Given the description of an element on the screen output the (x, y) to click on. 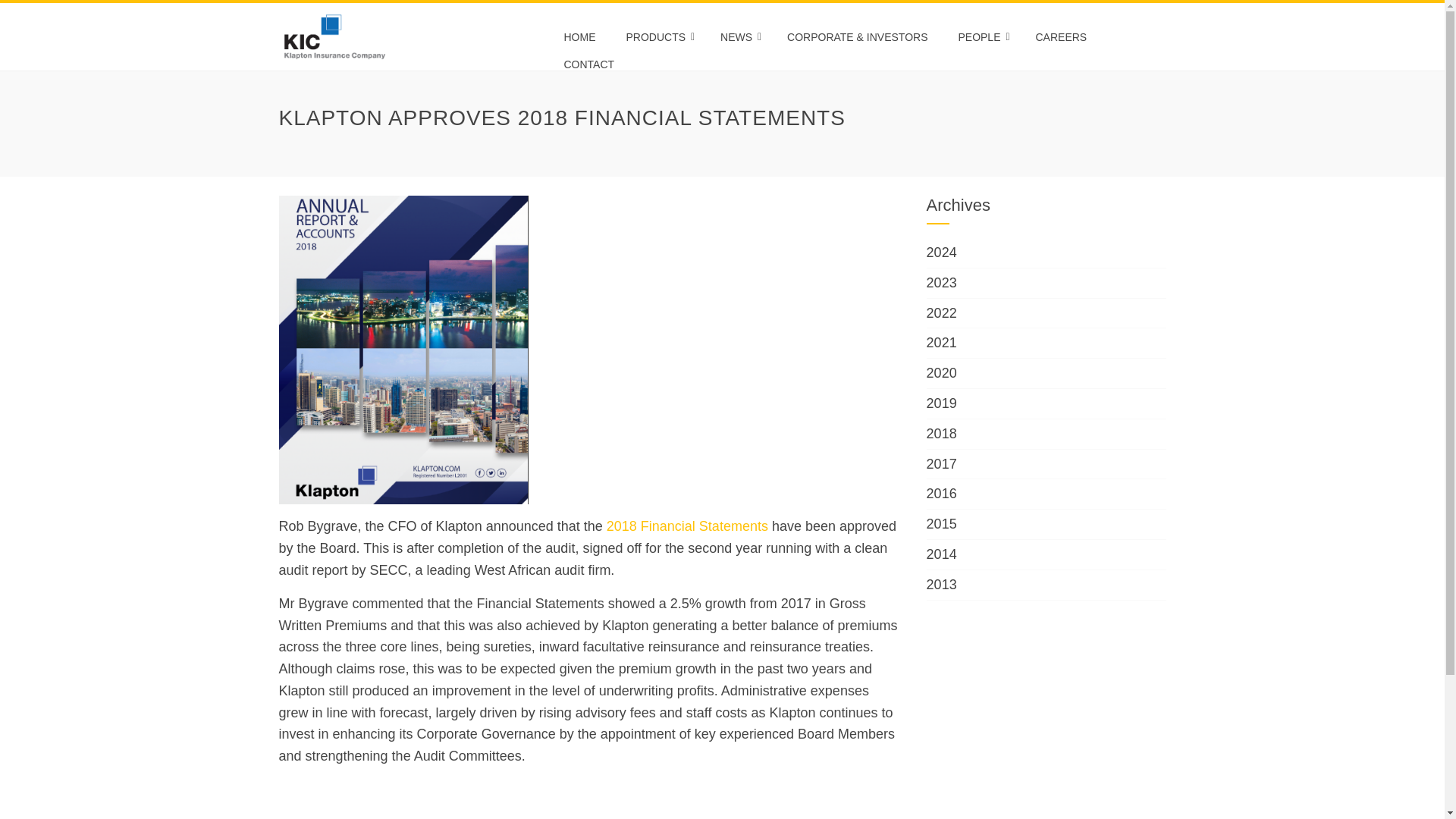
PRODUCTS (657, 36)
2015 (941, 523)
HOME (579, 36)
2023 (941, 282)
2019 (941, 403)
NEWS (738, 36)
2013 (941, 584)
2018 Financial Statements (687, 525)
2014 (941, 554)
2024 (941, 252)
